Given the description of an element on the screen output the (x, y) to click on. 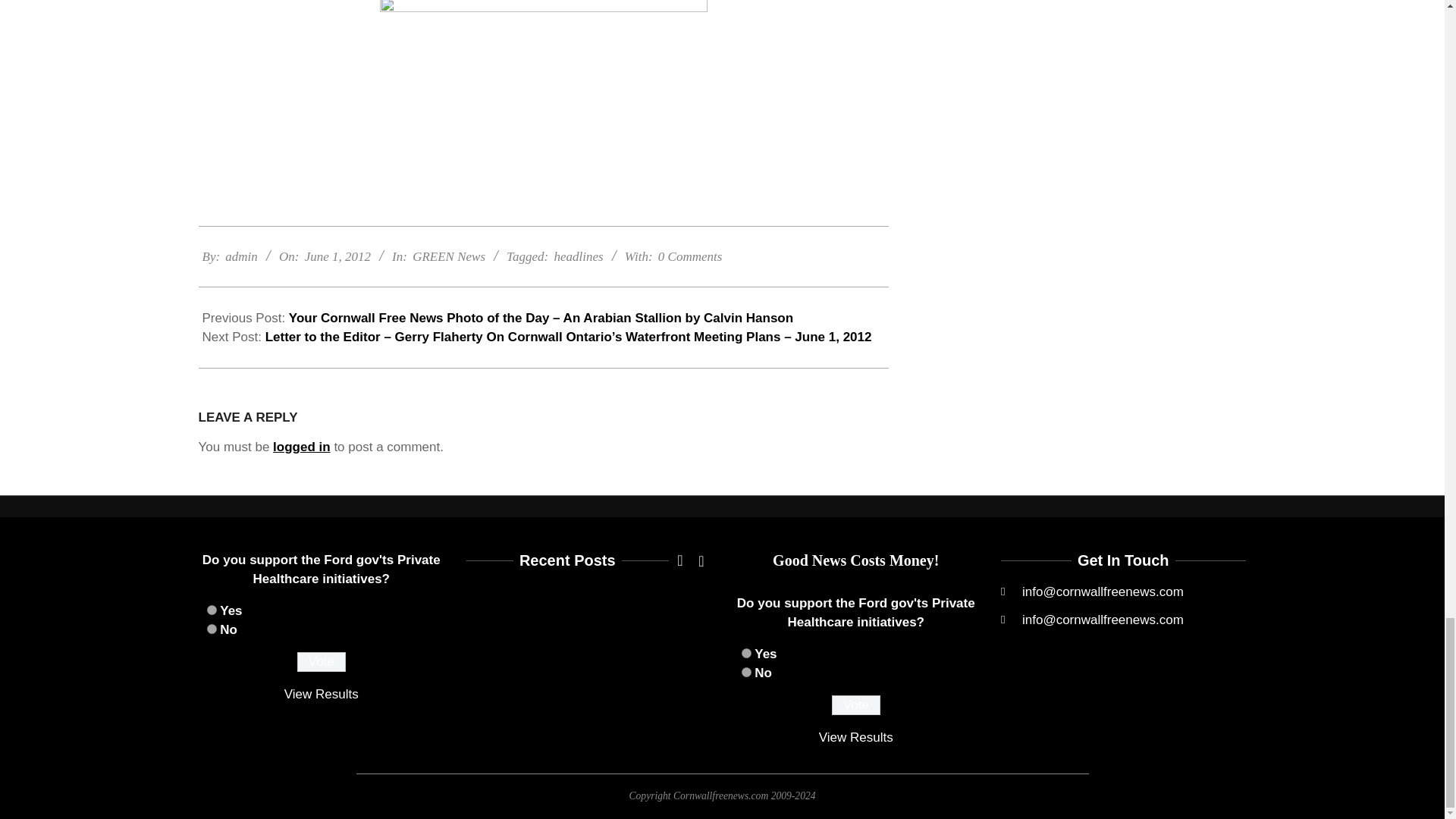
   Vote    (321, 661)
1776 (746, 653)
   Vote    (855, 704)
Posts by admin (241, 256)
1777 (746, 672)
1776 (210, 610)
View Results Of This Poll (855, 737)
1777 (210, 628)
Friday, June 1, 2012, 9:38 am (337, 256)
View Results Of This Poll (320, 694)
